Given the description of an element on the screen output the (x, y) to click on. 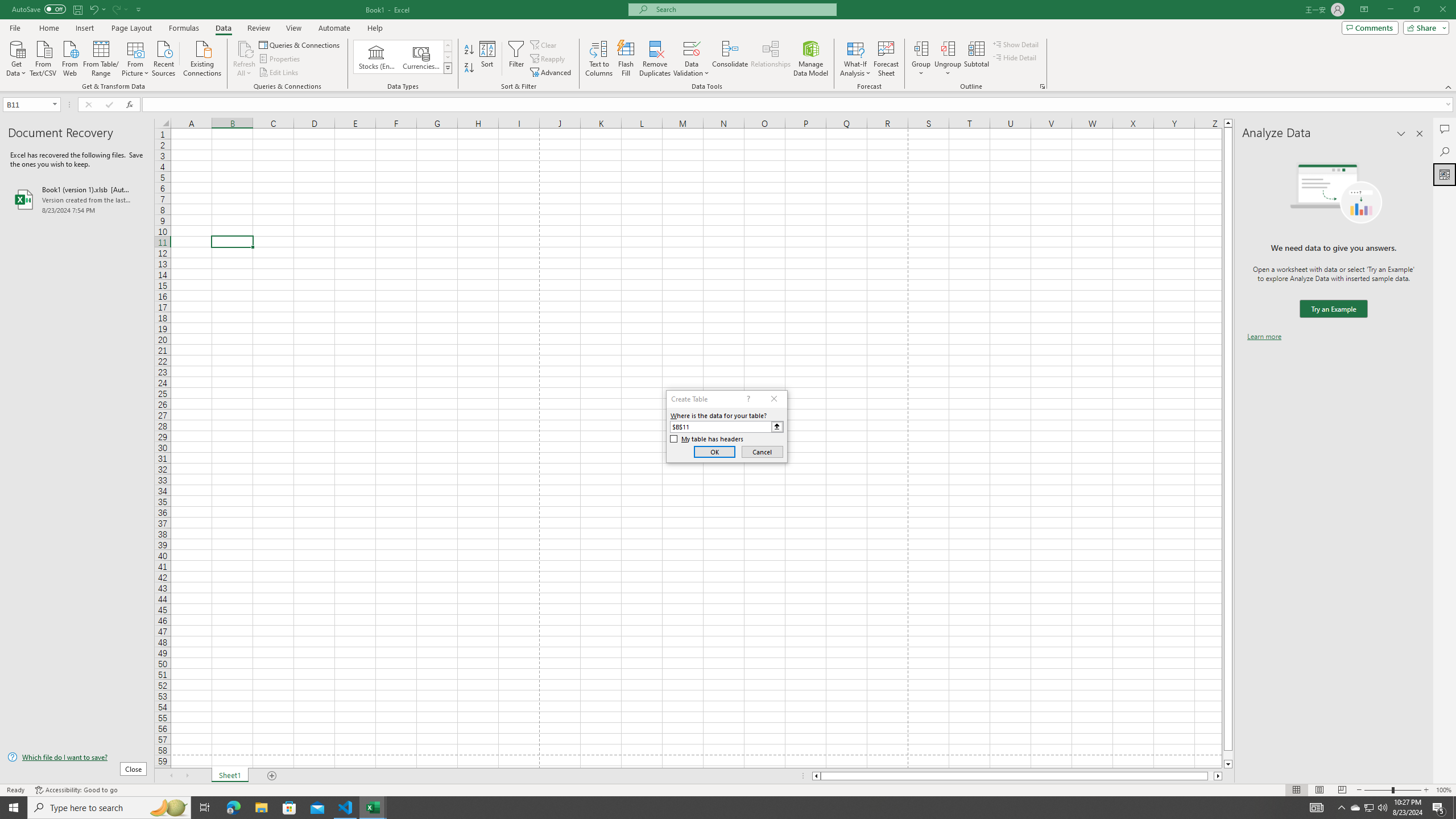
Flash Fill (625, 58)
